Given the description of an element on the screen output the (x, y) to click on. 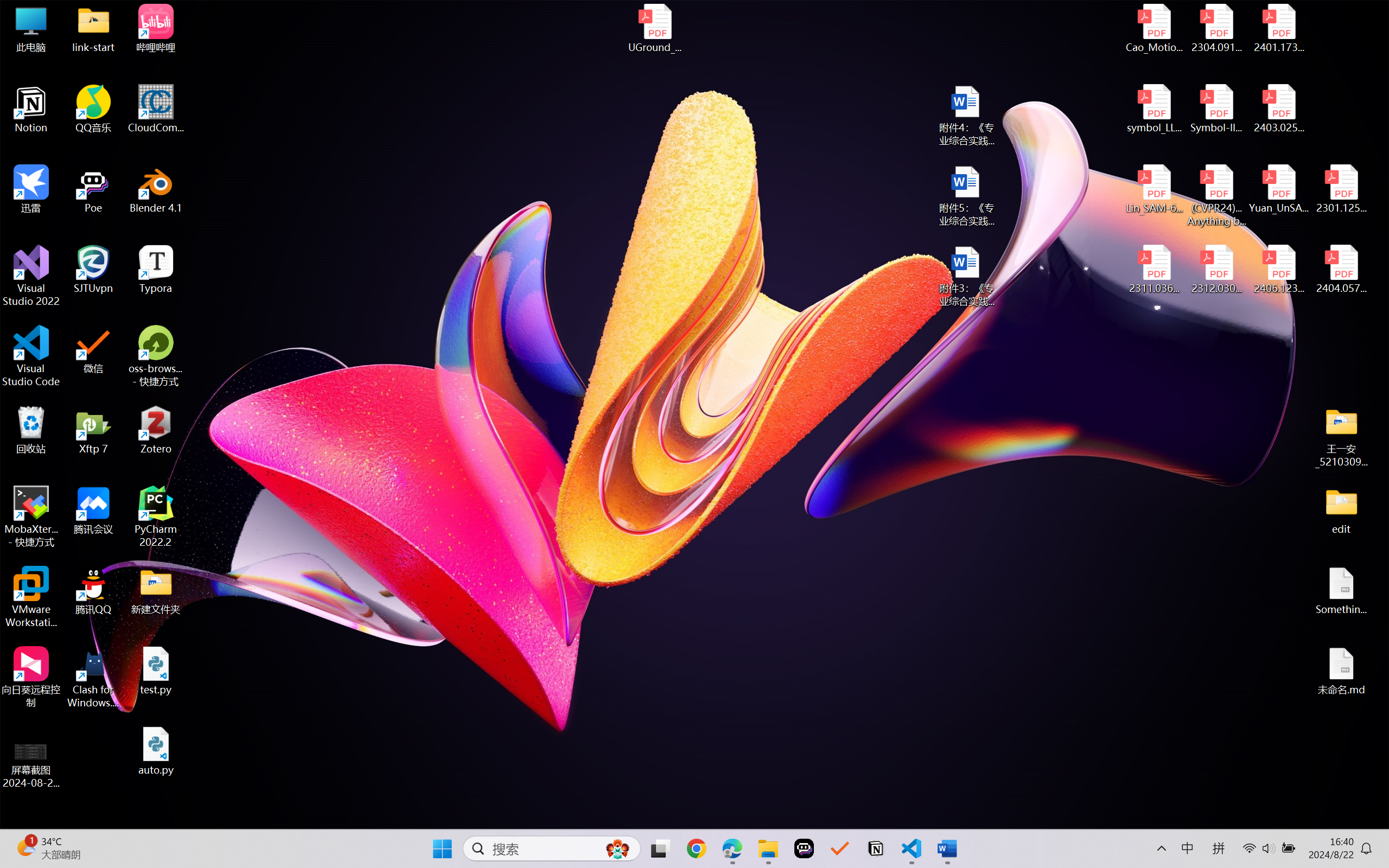
2404.05719v1.pdf (1340, 269)
2406.12373v2.pdf (1278, 269)
(CVPR24)Matching Anything by Segmenting Anything.pdf (1216, 195)
2403.02502v1.pdf (1278, 109)
auto.py (156, 751)
